Given the description of an element on the screen output the (x, y) to click on. 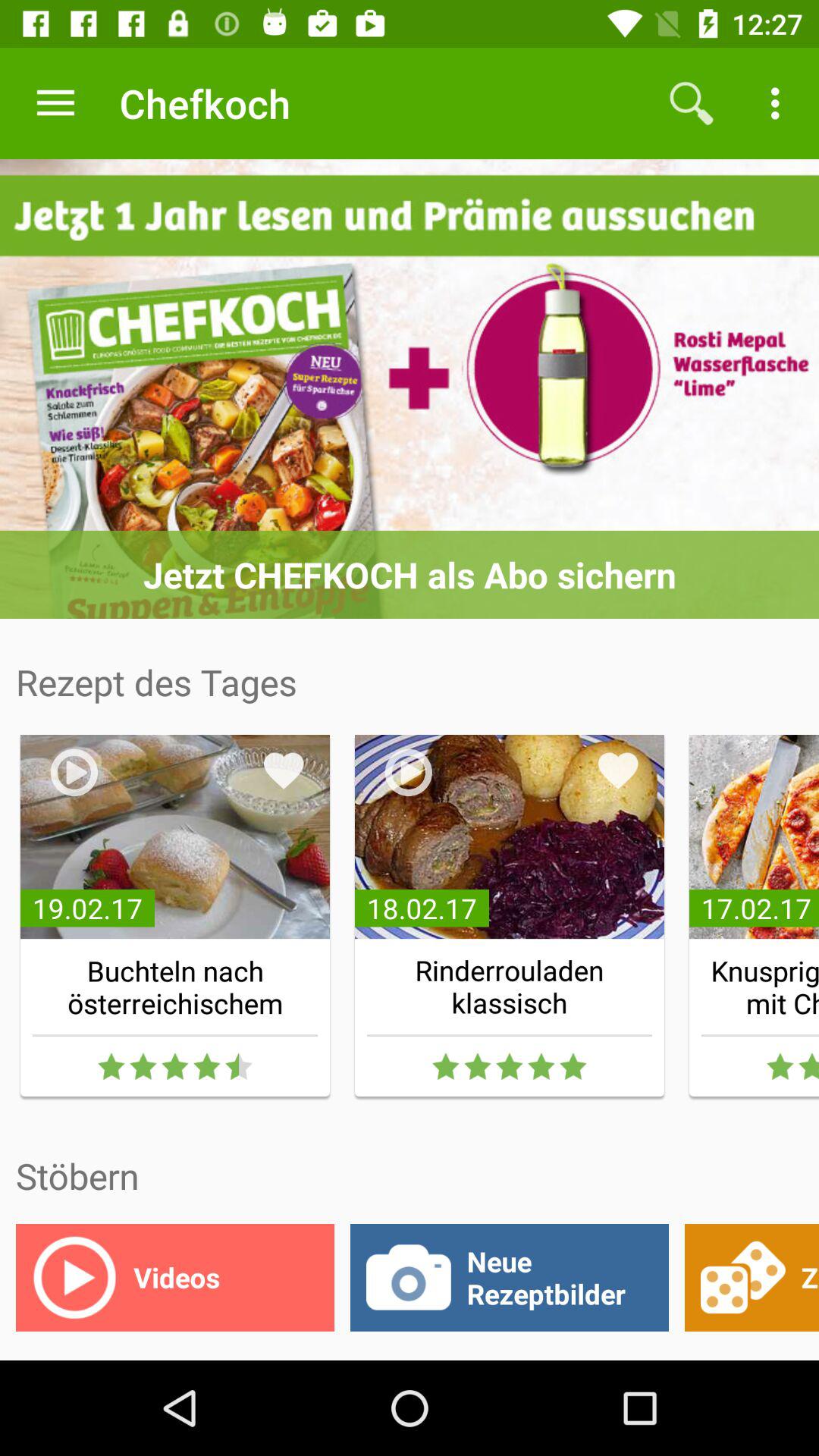
tap icon next to chefkoch item (691, 103)
